Given the description of an element on the screen output the (x, y) to click on. 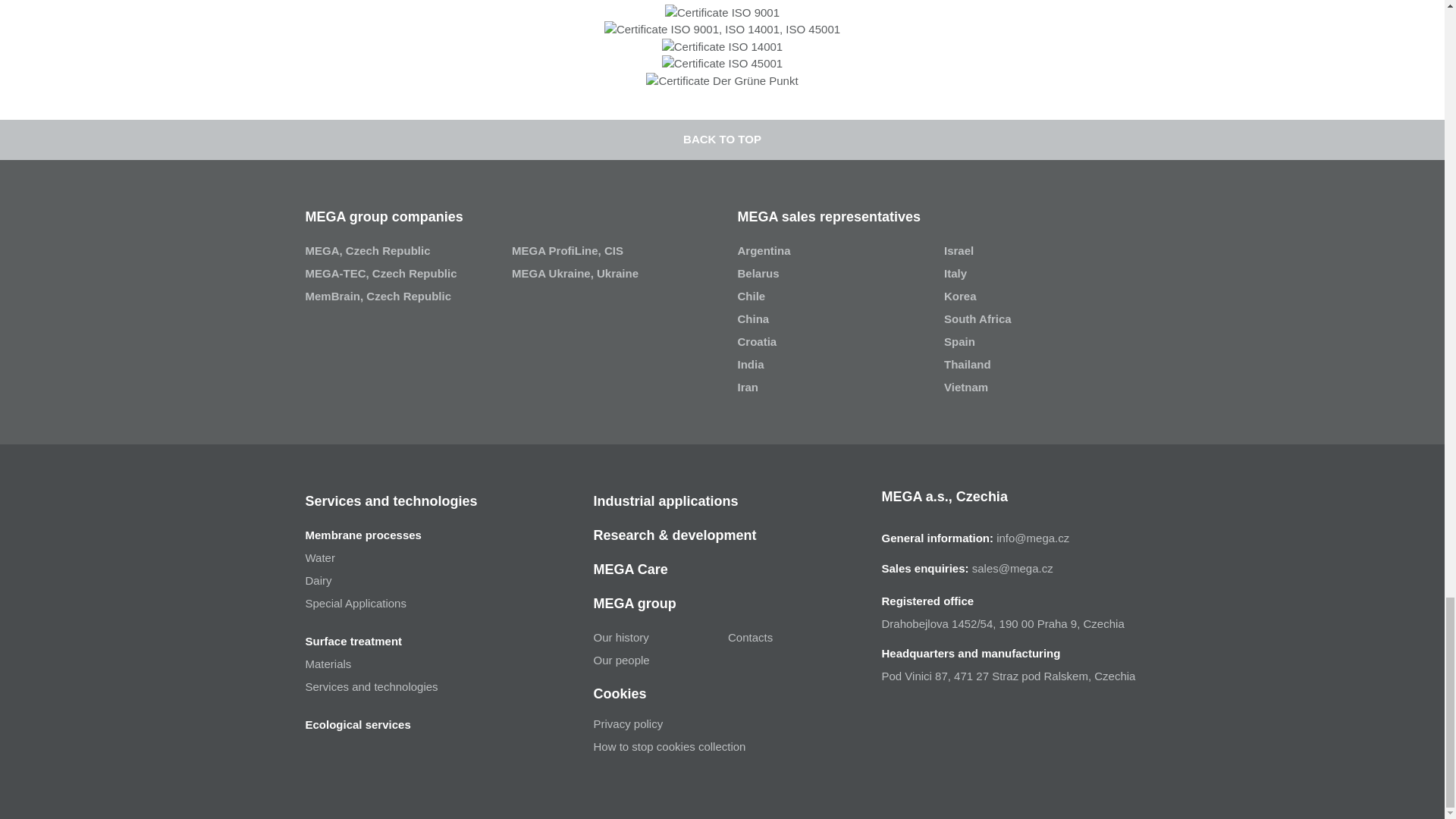
Certificate ISO 45001 (722, 63)
Certificate ISO 9001, ISO 14001, ISO 45001 (722, 29)
Certificate ISO 14001 (722, 47)
Certificate ISO 9001 (721, 13)
